Given the description of an element on the screen output the (x, y) to click on. 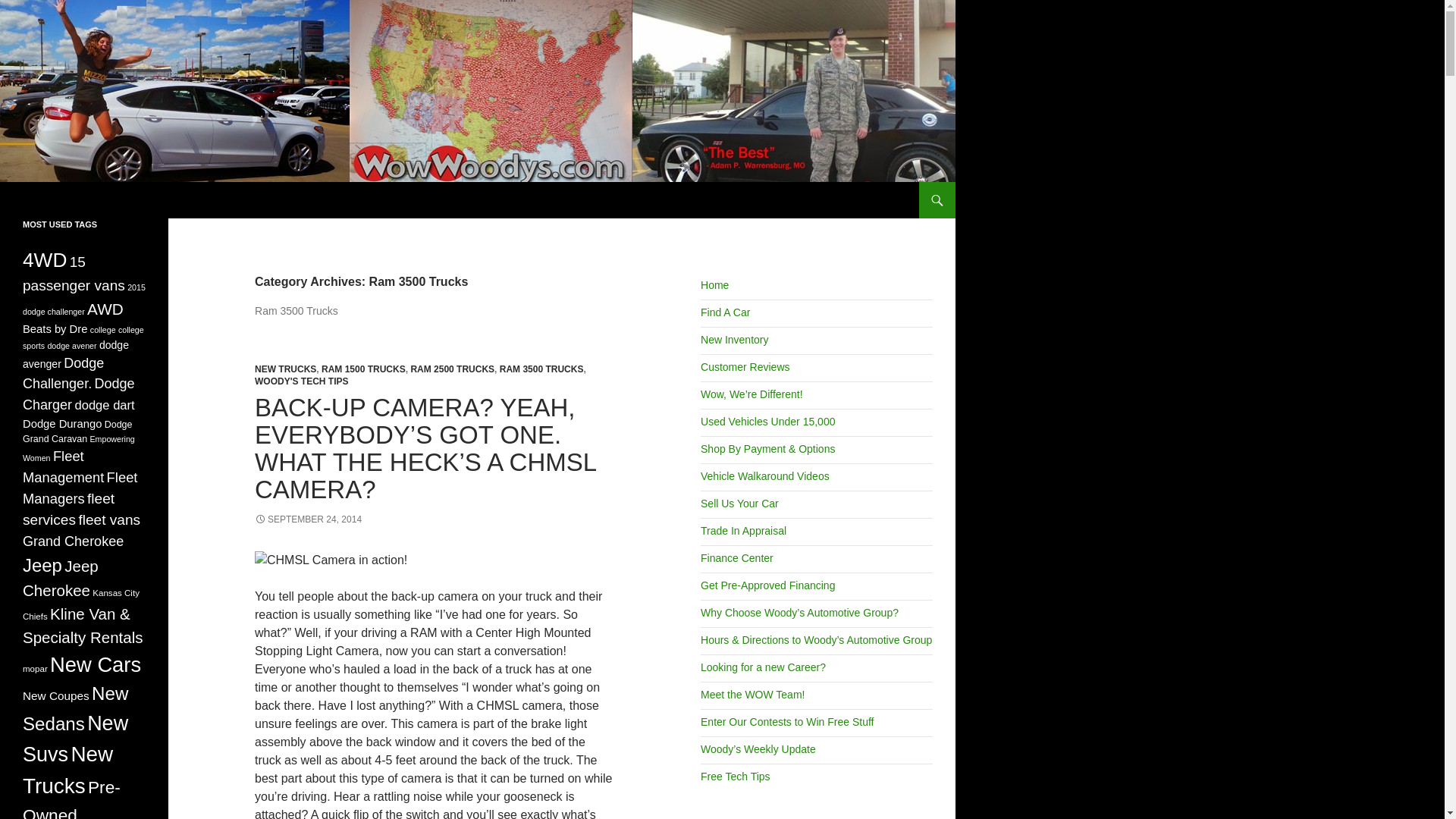
RAM 3500 TRUCKS (541, 368)
Looking for a new Career? (762, 666)
Visit WowWoodys.com (714, 285)
Find A Car For Sale (724, 312)
RAM 2500 TRUCKS (452, 368)
WOODY'S TECH TIPS (301, 380)
RAM 1500 TRUCKS (363, 368)
SEPTEMBER 24, 2014 (307, 519)
